Given the description of an element on the screen output the (x, y) to click on. 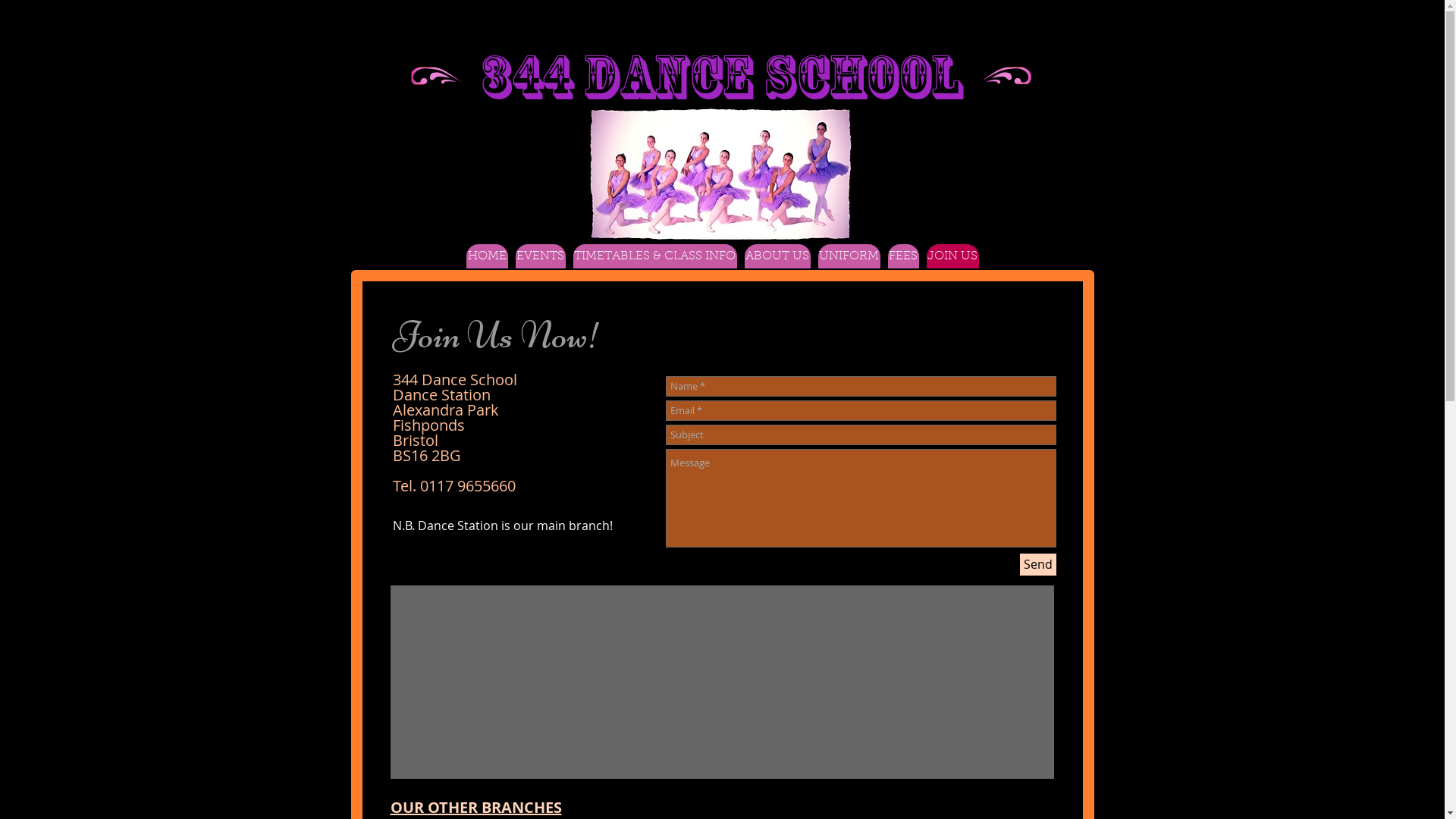
ABOUT US Element type: text (777, 256)
FEES Element type: text (902, 256)
Edited Image 2015-8-21-11:47:8 Element type: hover (435, 75)
JOIN US Element type: text (952, 256)
TIMETABLES & CLASS INFO Element type: text (655, 256)
Google Maps Element type: hover (722, 682)
UNIFORM Element type: text (848, 256)
Send Element type: text (1037, 564)
HOME Element type: text (486, 256)
Edited Image 2015-8-21-11:47:54 Element type: hover (1008, 75)
Lilac Ballet sat.jpg 2015-8-21-11:43:18 Element type: hover (719, 173)
EVENTS Element type: text (540, 256)
